Given the description of an element on the screen output the (x, y) to click on. 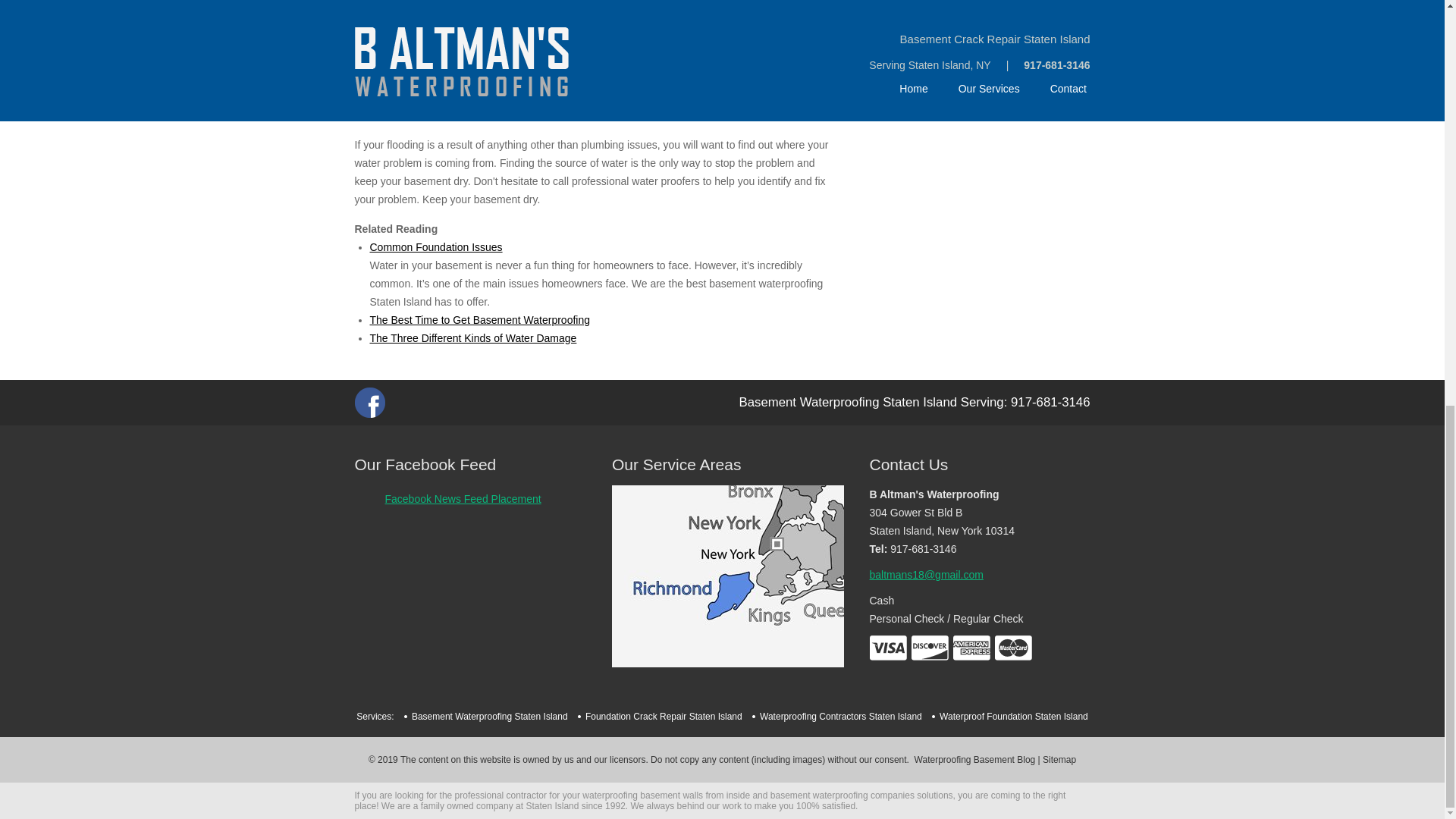
Basement Waterproofing Staten Island (489, 716)
Facebook News Feed Placement (463, 499)
Common Foundation Issues (435, 246)
The Best Time to Get Basement Waterproofing (480, 319)
Foundation Crack Repair Staten Island (663, 716)
Waterproofing Basement Blog (974, 759)
Waterproofing Contractors Staten Island (979, 44)
Waterproof Foundation Staten Island (1013, 716)
basement waterproofing companies (842, 795)
The Three Different Kinds of Water Damage (472, 337)
Waterproofing Contractors Staten Island (840, 716)
Sitemap (1058, 759)
waterproofing basement walls from inside (665, 795)
